Given the description of an element on the screen output the (x, y) to click on. 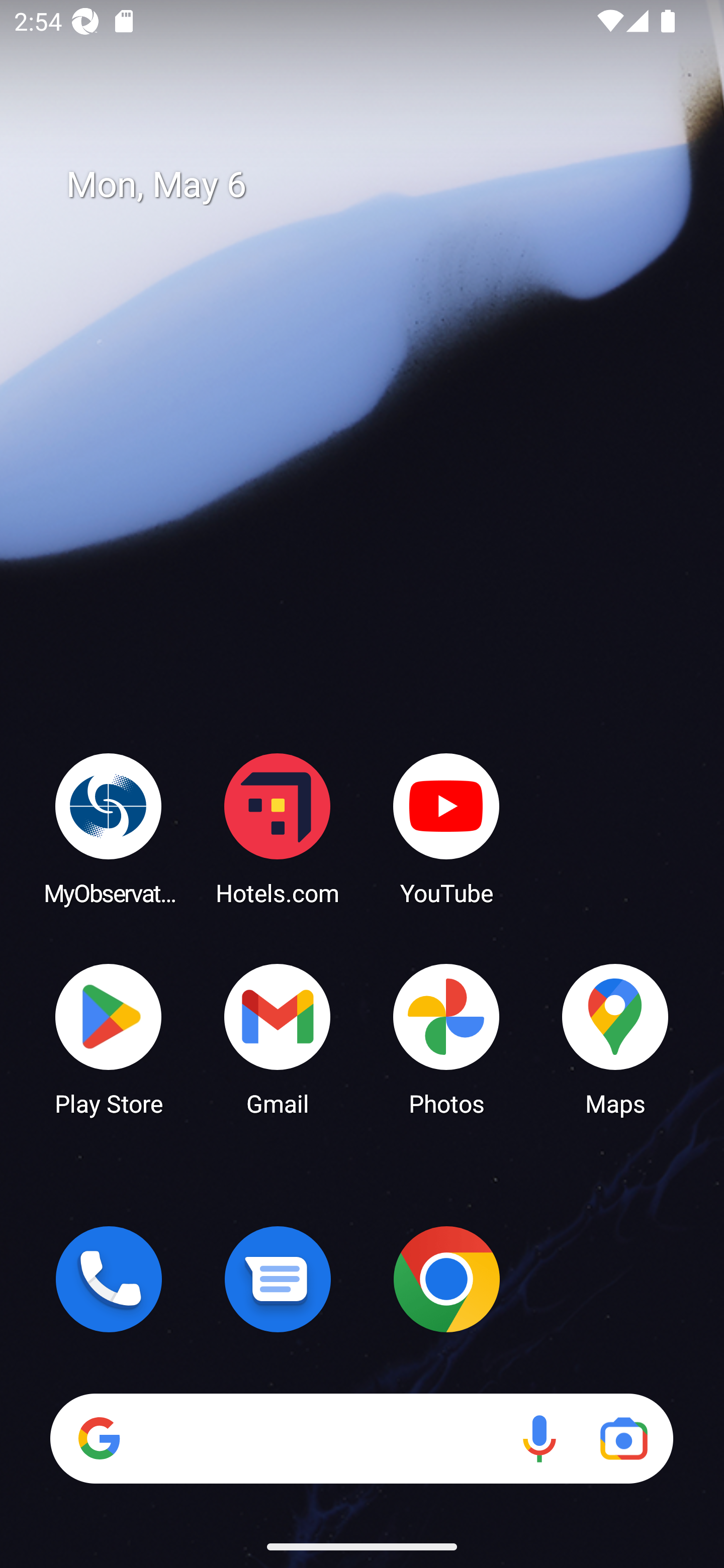
Mon, May 6 (375, 184)
MyObservatory (108, 828)
Hotels.com (277, 828)
YouTube (445, 828)
Play Store (108, 1038)
Gmail (277, 1038)
Photos (445, 1038)
Maps (615, 1038)
Phone (108, 1279)
Messages (277, 1279)
Chrome (446, 1279)
Search Voice search Google Lens (361, 1438)
Voice search (539, 1438)
Google Lens (623, 1438)
